Given the description of an element on the screen output the (x, y) to click on. 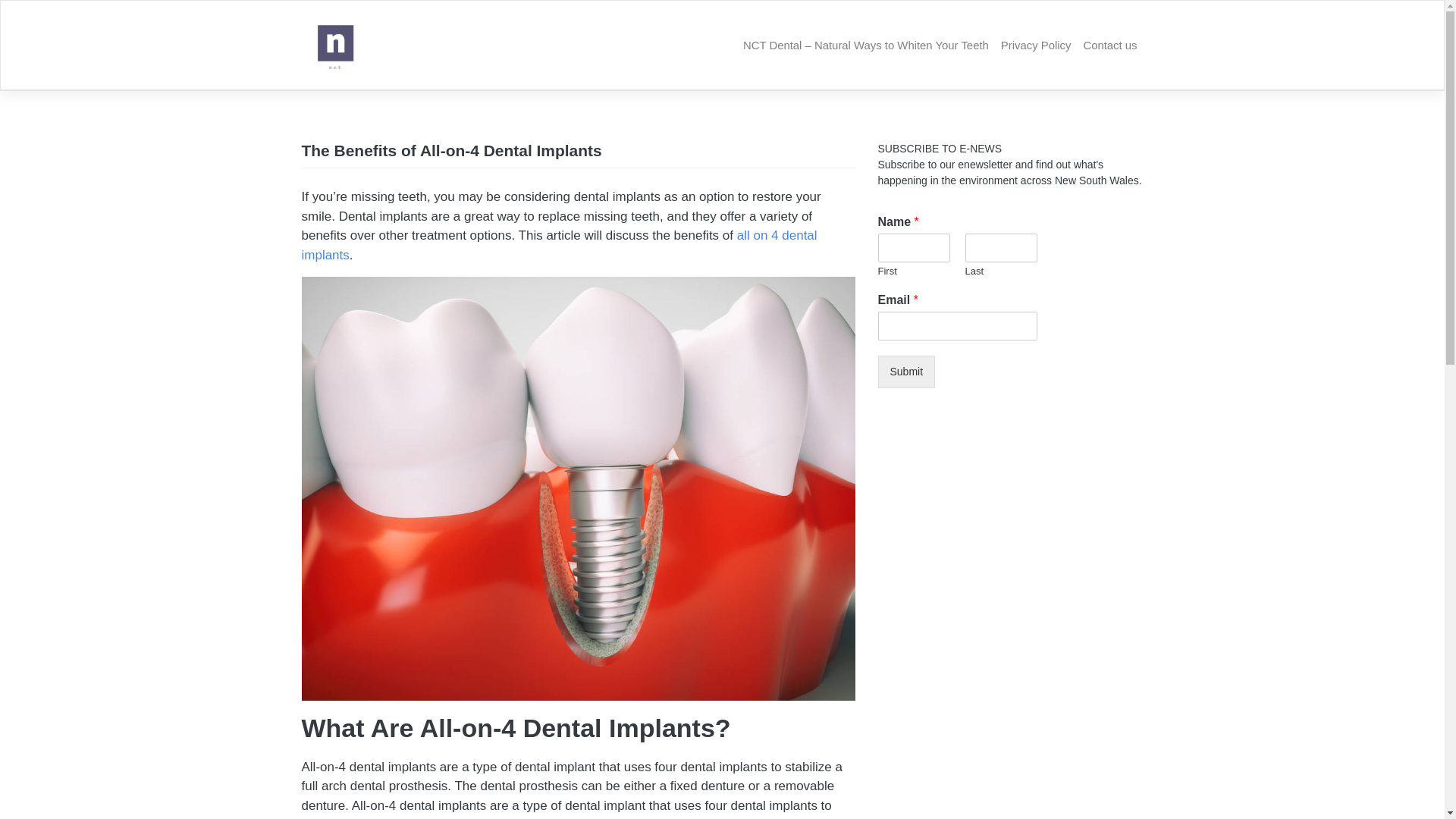
all on 4 dental implants Element type: text (559, 245)
Submit Element type: text (906, 371)
Privacy Policy Element type: text (1035, 45)
Contact us Element type: text (1109, 45)
